Given the description of an element on the screen output the (x, y) to click on. 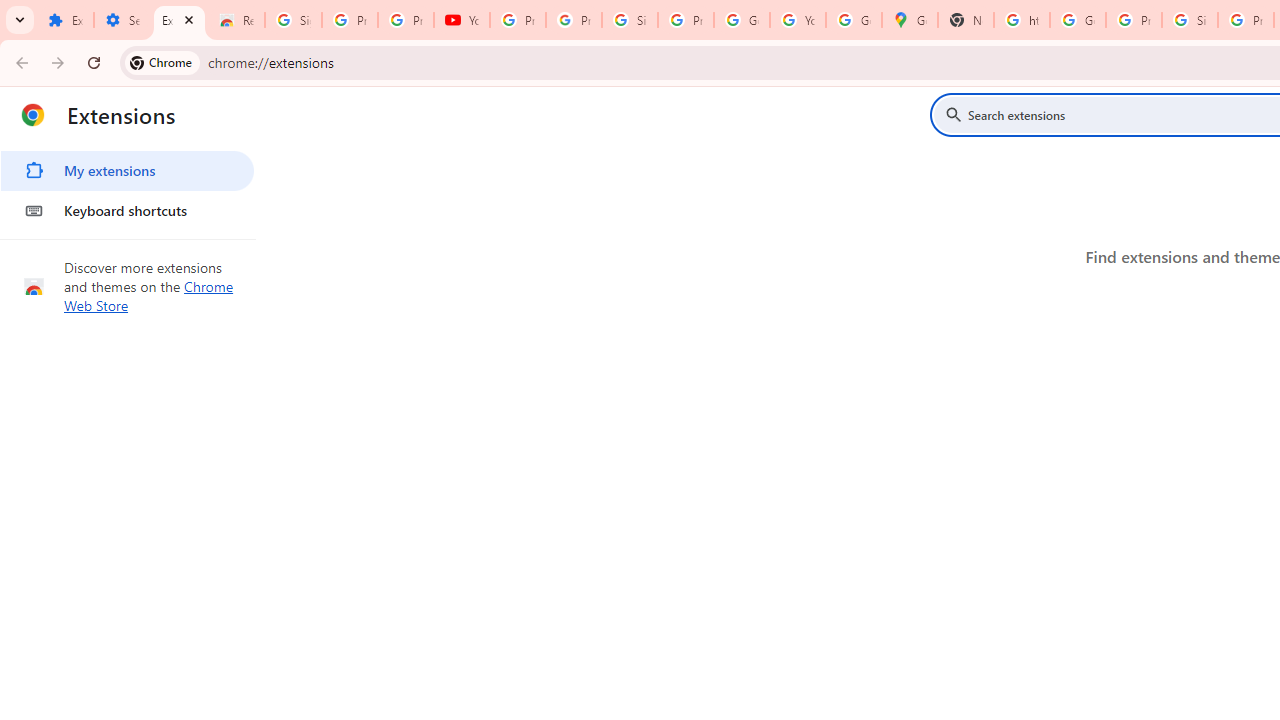
Chrome Web Store (149, 296)
YouTube (797, 20)
